Given the description of an element on the screen output the (x, y) to click on. 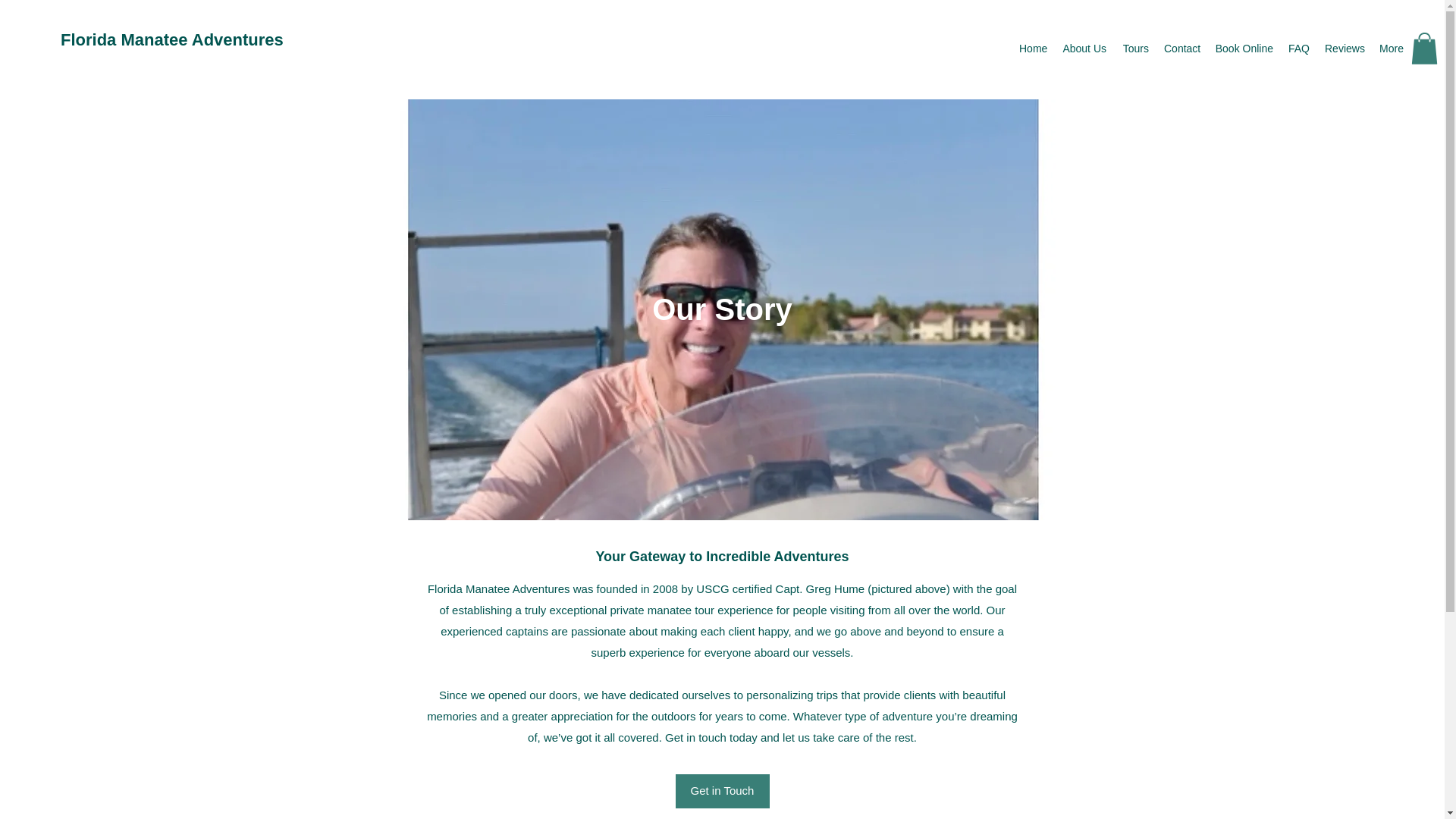
Book Online (1244, 47)
About Us (1083, 47)
FAQ (1299, 47)
Tours (1134, 47)
Home (1032, 47)
Reviews (1344, 47)
Contact (1181, 47)
